Given the description of an element on the screen output the (x, y) to click on. 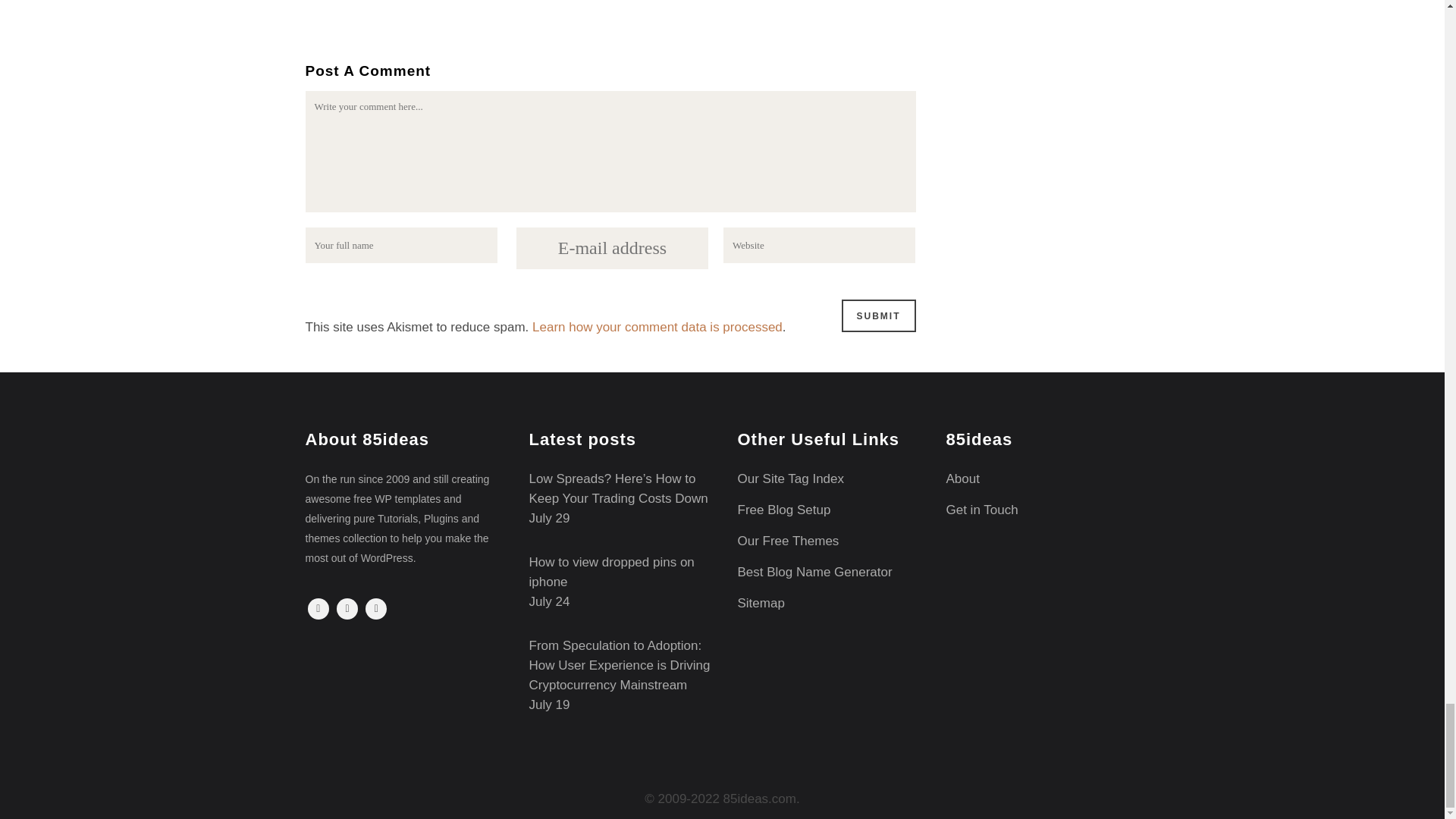
Submit (878, 315)
